Given the description of an element on the screen output the (x, y) to click on. 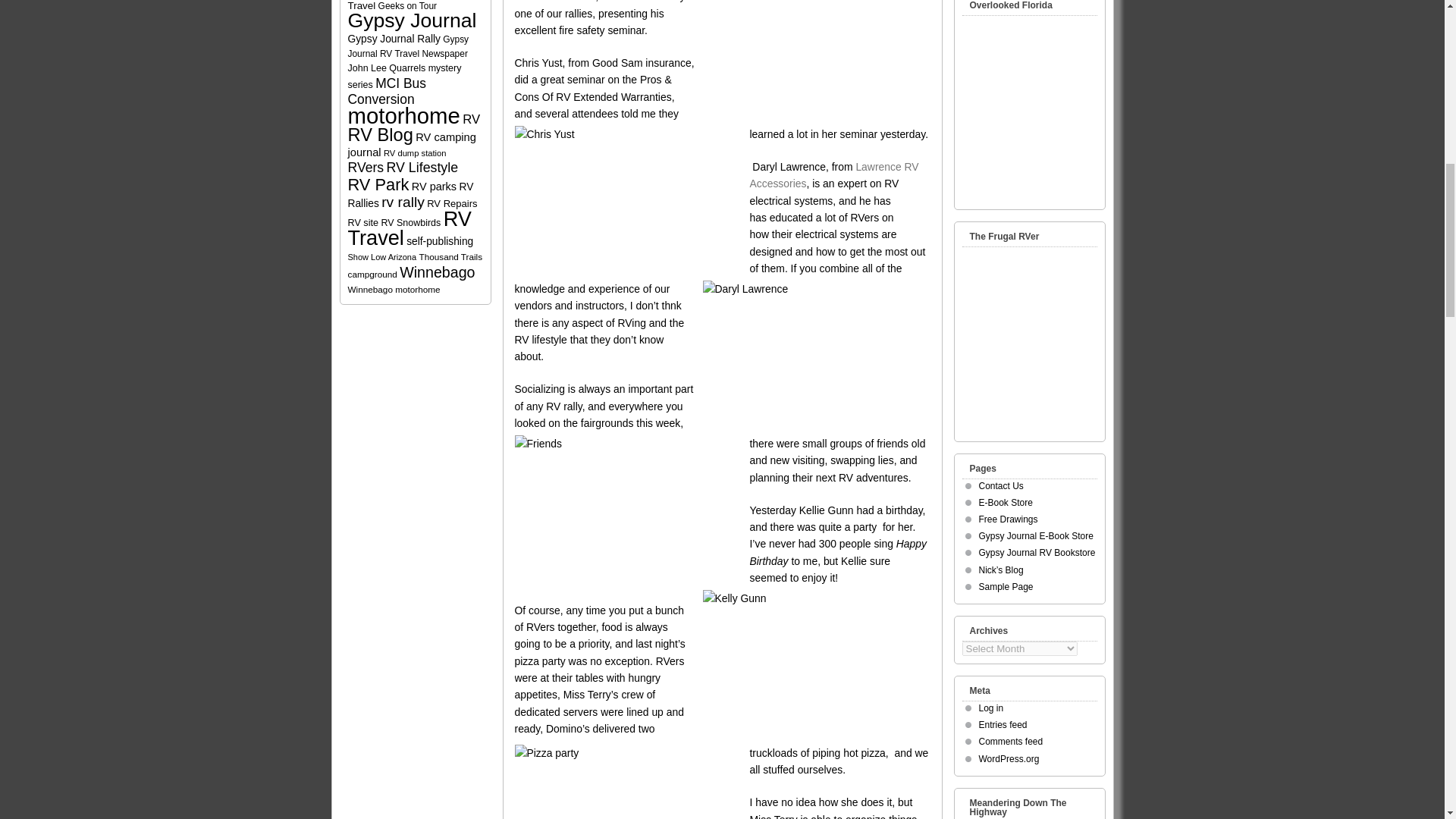
Daryl Lawrence (815, 355)
Mac Booth (815, 61)
Chris Yust (627, 201)
Pizza party (627, 781)
Friends (627, 510)
Lawrence RV Accessories (833, 174)
Kelly Gunn (815, 665)
